Given the description of an element on the screen output the (x, y) to click on. 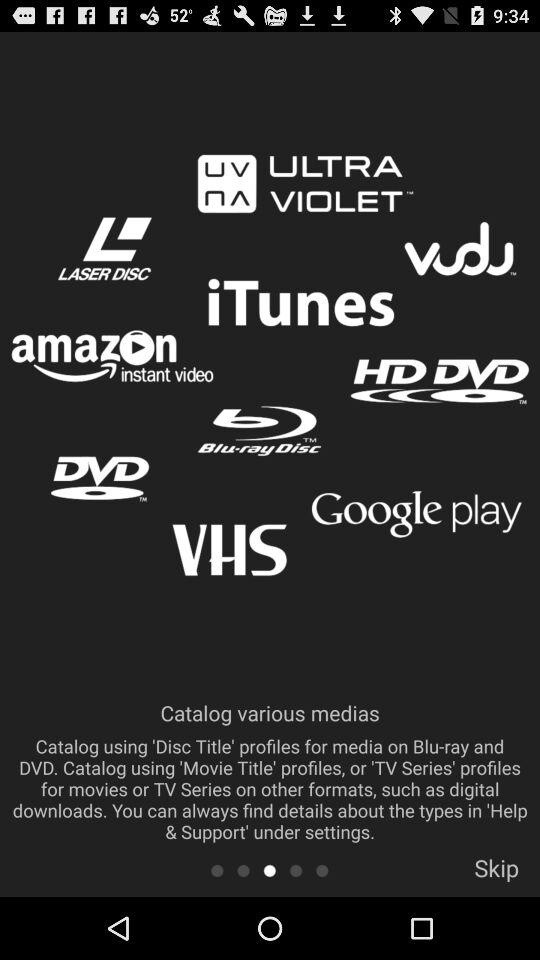
go to back (295, 870)
